Given the description of an element on the screen output the (x, y) to click on. 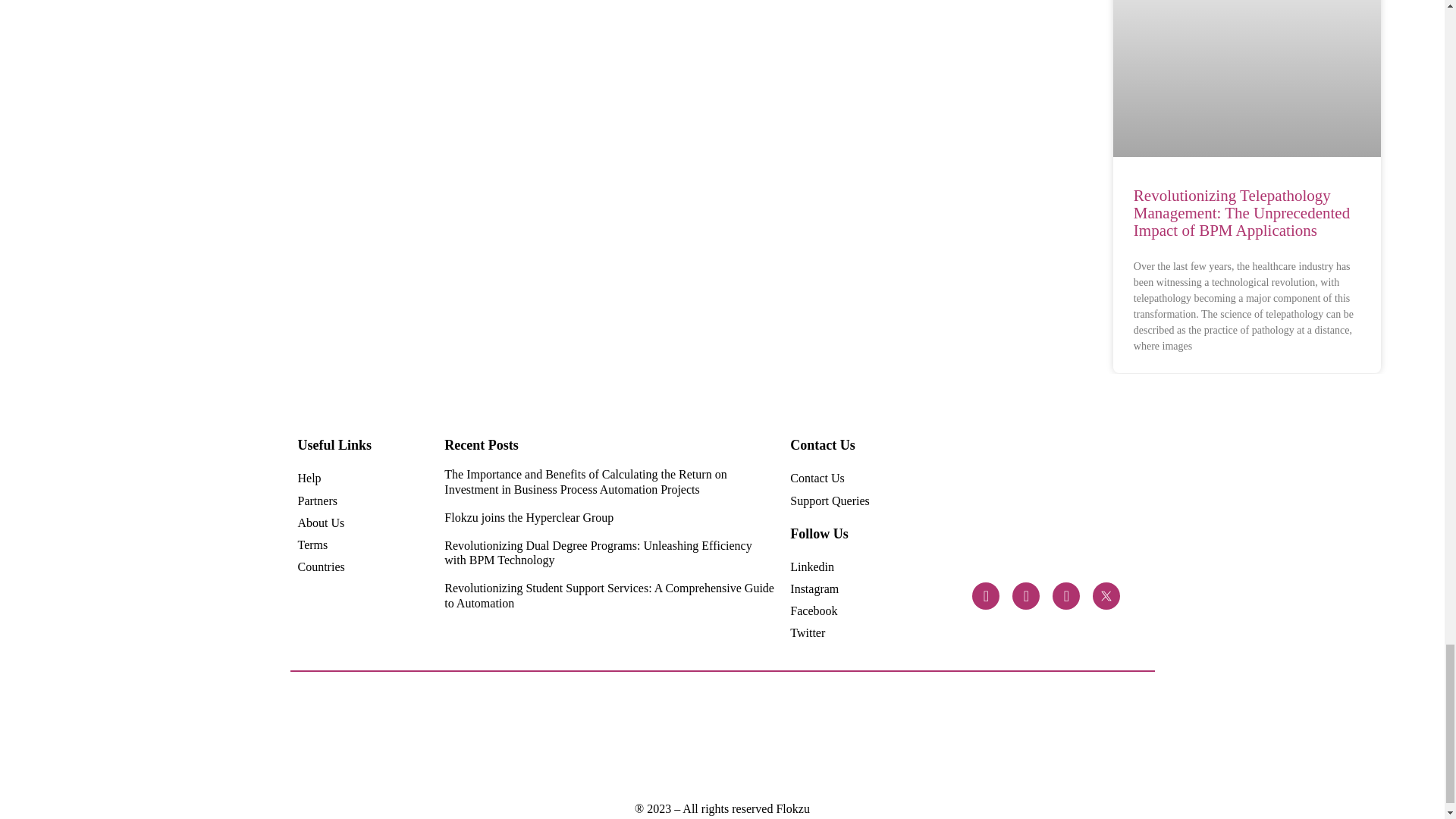
Top Performer Flokzu 2024-1 (688, 737)
frontrunner 2024 (494, 737)
Top Performer Flokzu 2024-2 (559, 737)
category leaders 2024 (430, 737)
good firms top bpm-footer (945, 737)
getapp best functionality and features-footer (1010, 737)
